Given the description of an element on the screen output the (x, y) to click on. 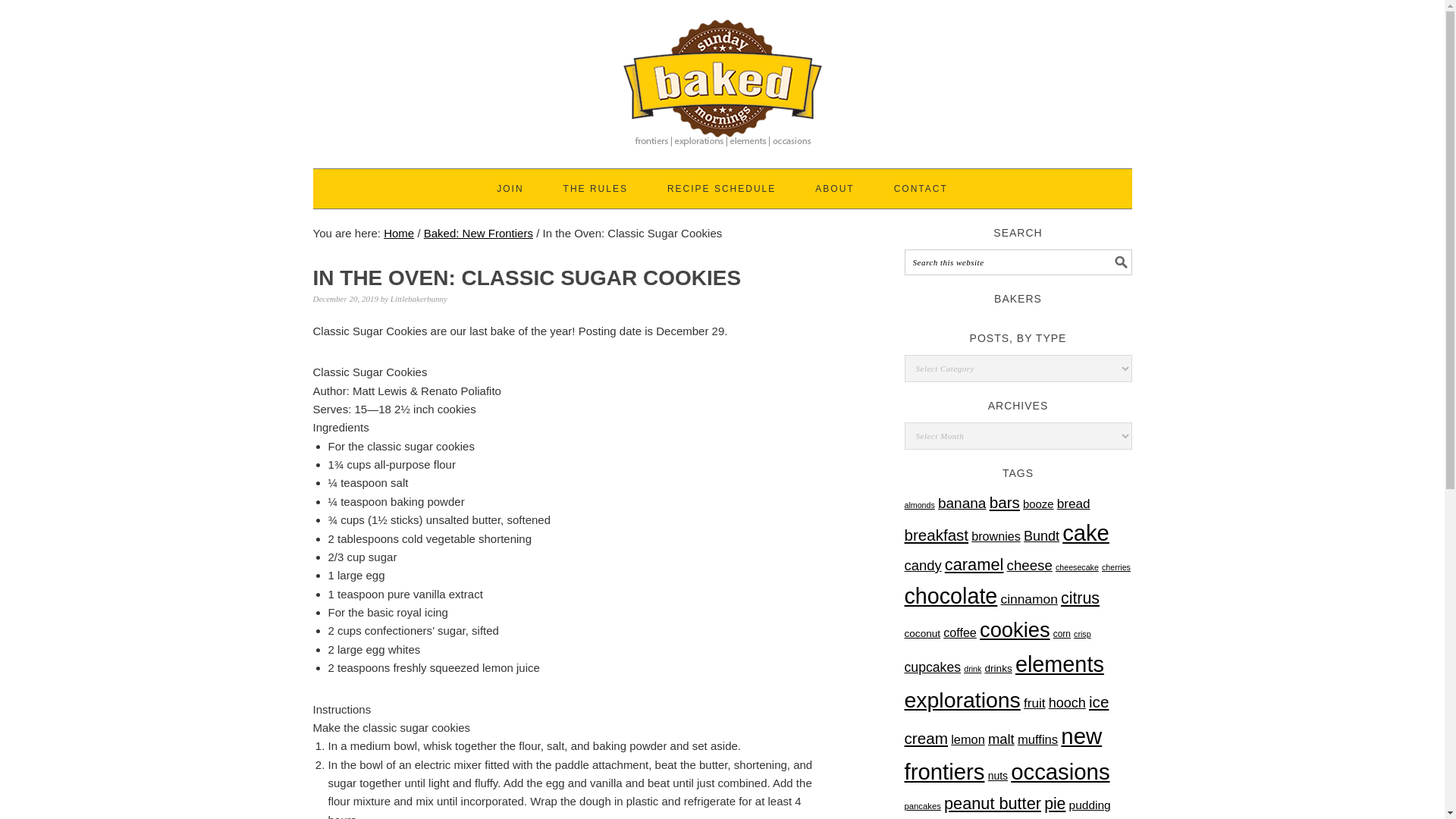
corn (1061, 633)
cinnamon (1028, 598)
candy (922, 565)
almonds (919, 504)
Littlebakerbunny (418, 298)
citrus (1080, 597)
cupcakes (932, 667)
banana (962, 503)
Bundt (1041, 535)
cheese (1029, 565)
THE RULES (595, 188)
JOIN (509, 188)
chocolate (950, 595)
crisp (1082, 633)
